Given the description of an element on the screen output the (x, y) to click on. 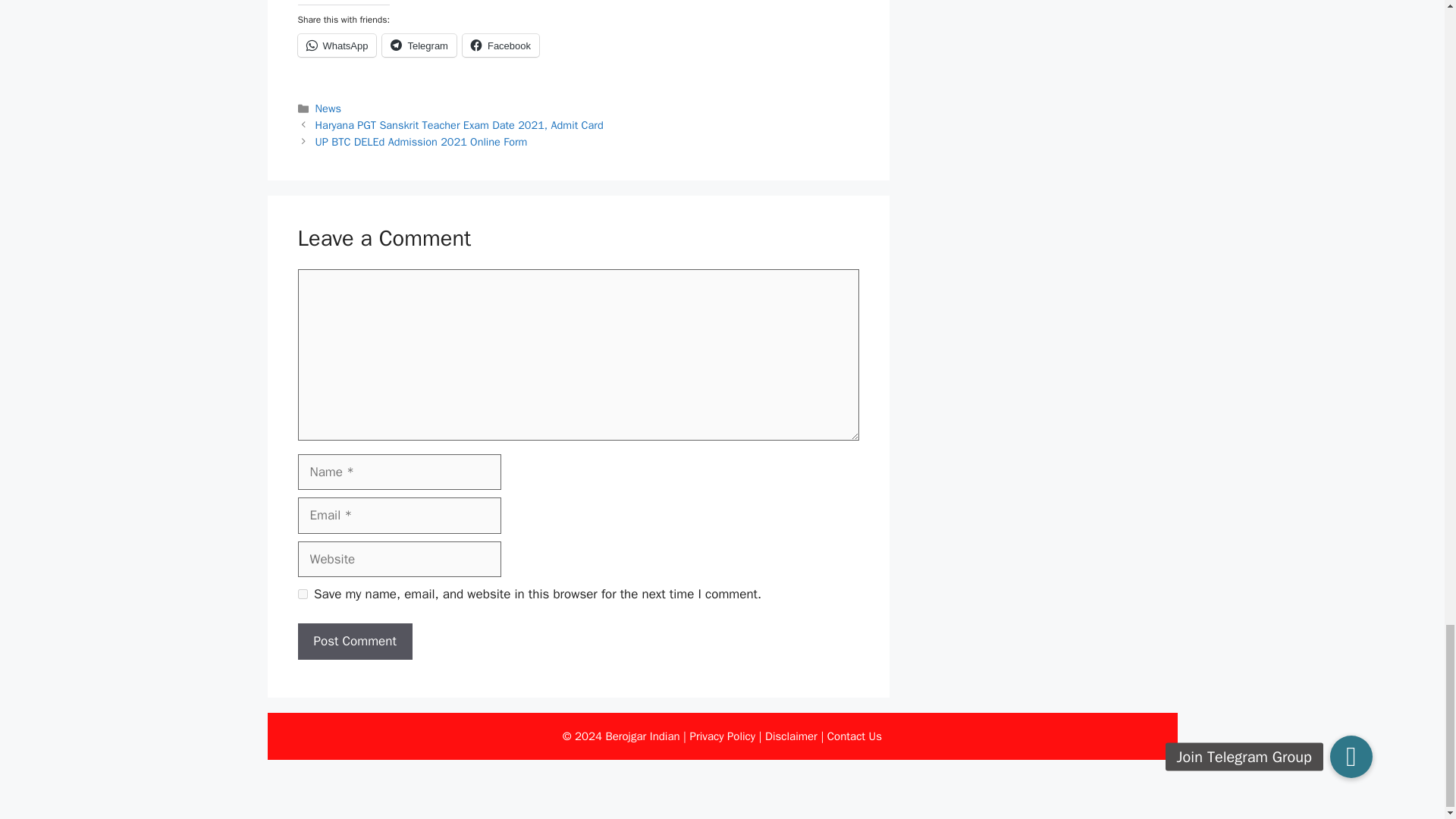
Click to share on Facebook (500, 45)
Privacy Policy (722, 735)
Haryana PGT Sanskrit Teacher Exam Date 2021, Admit Card (459, 124)
Post Comment (354, 641)
Disclaimer (790, 735)
Berojgar Indian (642, 735)
News (327, 108)
Telegram (418, 45)
yes (302, 593)
UP BTC DELEd Admission 2021 Online Form (421, 141)
